Given the description of an element on the screen output the (x, y) to click on. 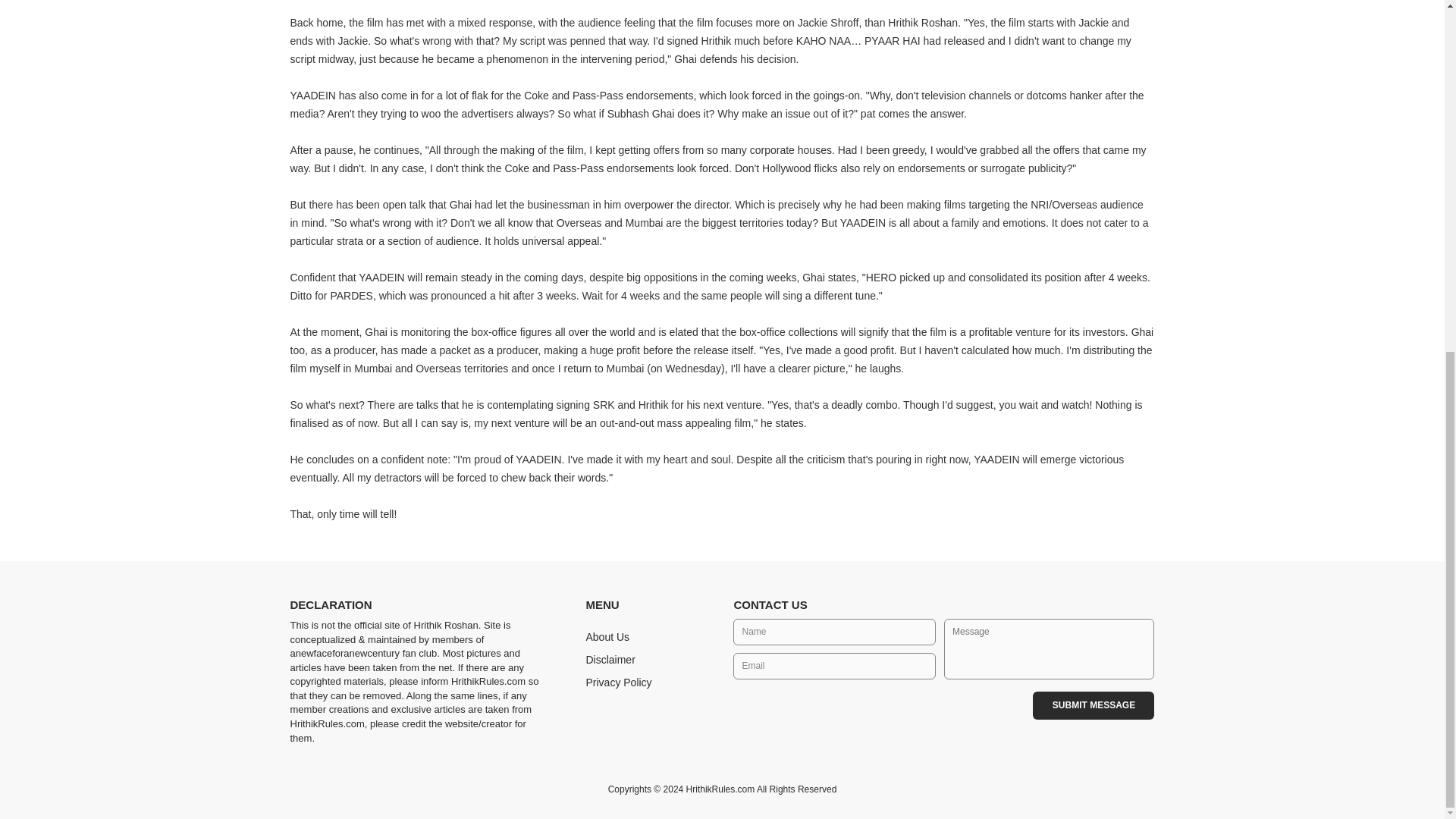
About Us (606, 636)
Disclaimer (609, 659)
Privacy Policy (617, 682)
SUBMIT MESSAGE (1093, 705)
